Given the description of an element on the screen output the (x, y) to click on. 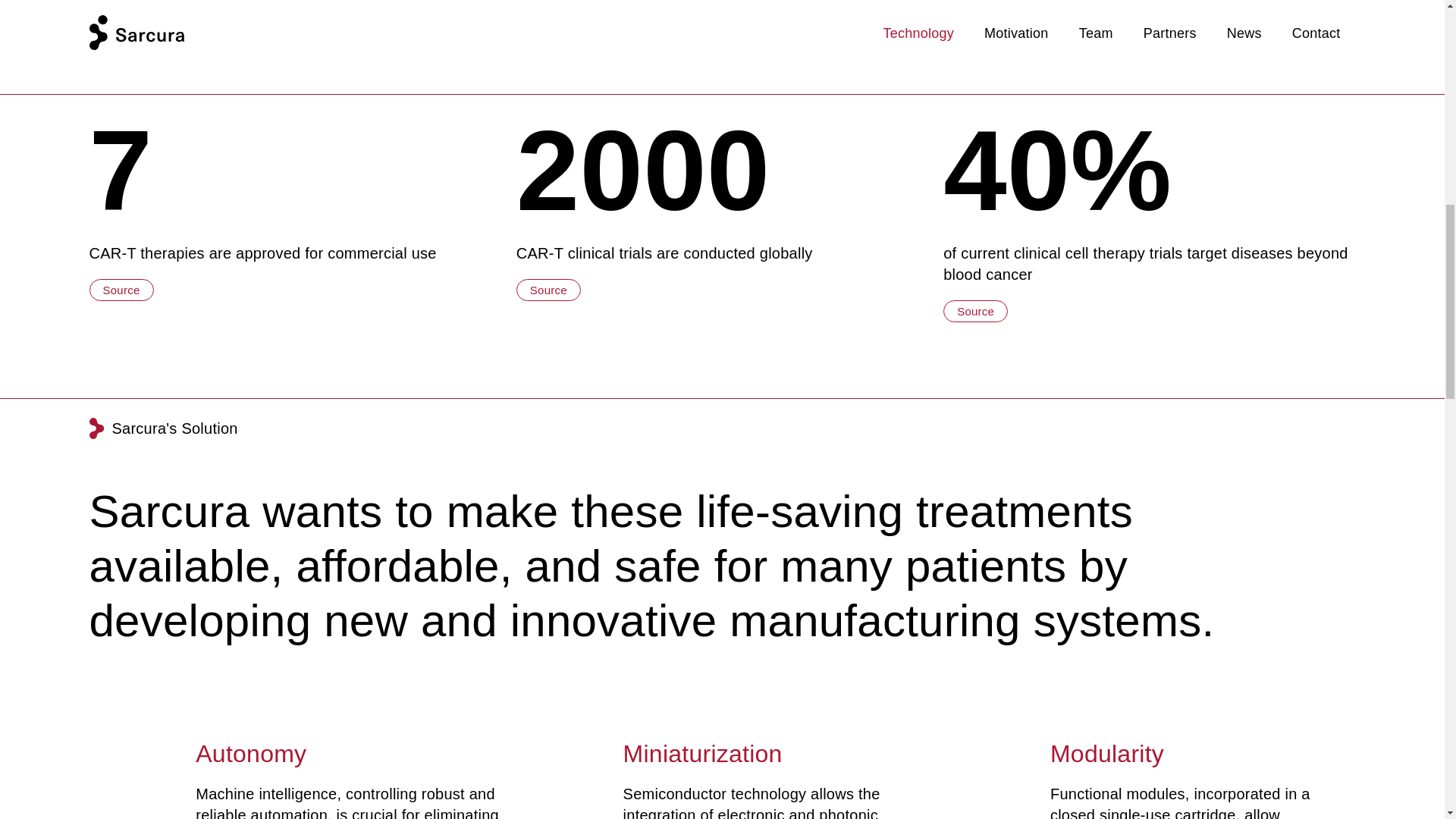
Source (975, 311)
Source (548, 290)
Source (121, 290)
